Given the description of an element on the screen output the (x, y) to click on. 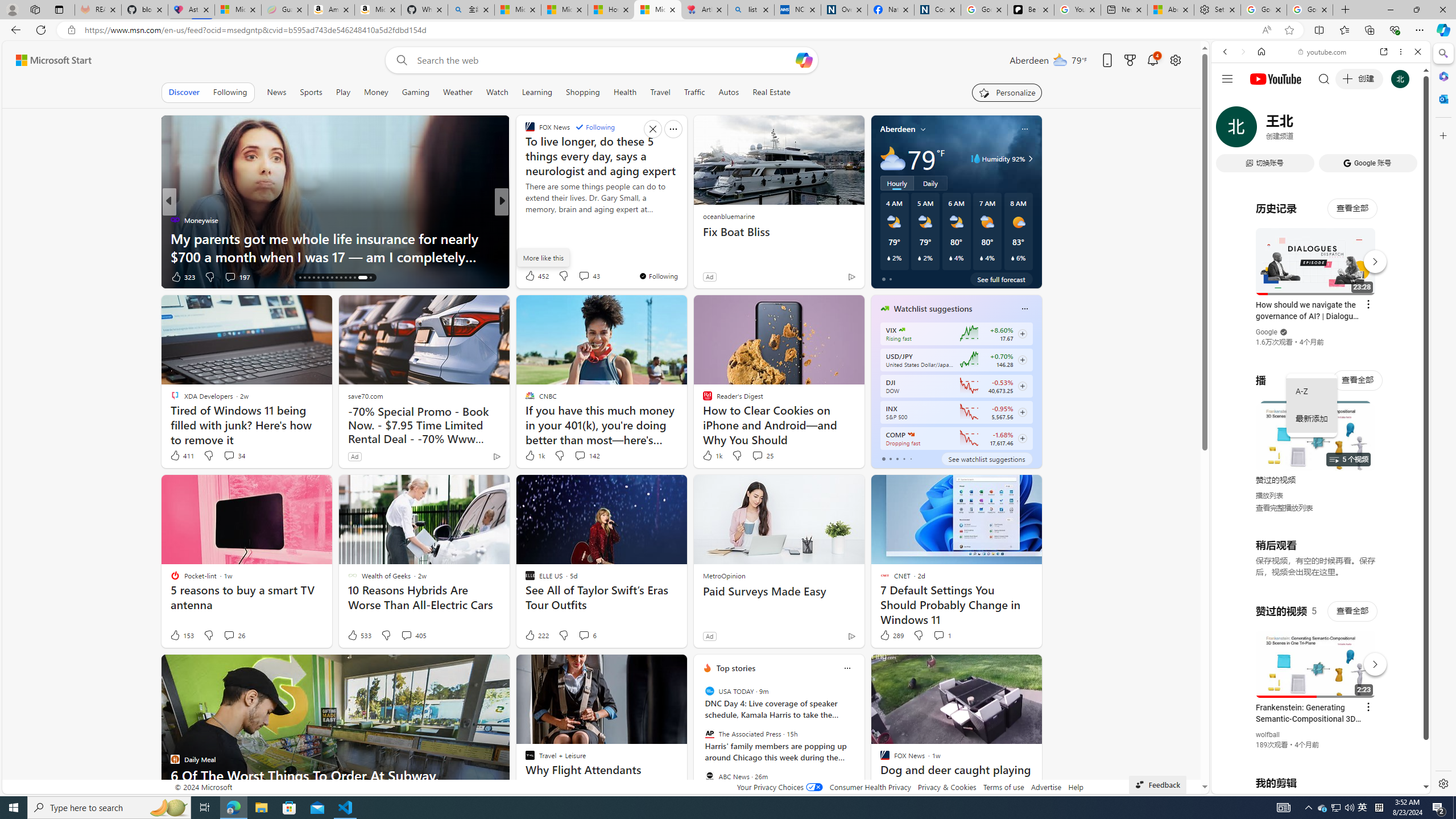
Class: icon-img (847, 668)
Class: weather-current-precipitation-glyph (1012, 257)
Consumer Health Privacy (870, 786)
Mostly cloudy (892, 158)
AutomationID: tab-22 (327, 277)
AutomationID: tab-30 (370, 277)
A-Z (1311, 391)
